Given the description of an element on the screen output the (x, y) to click on. 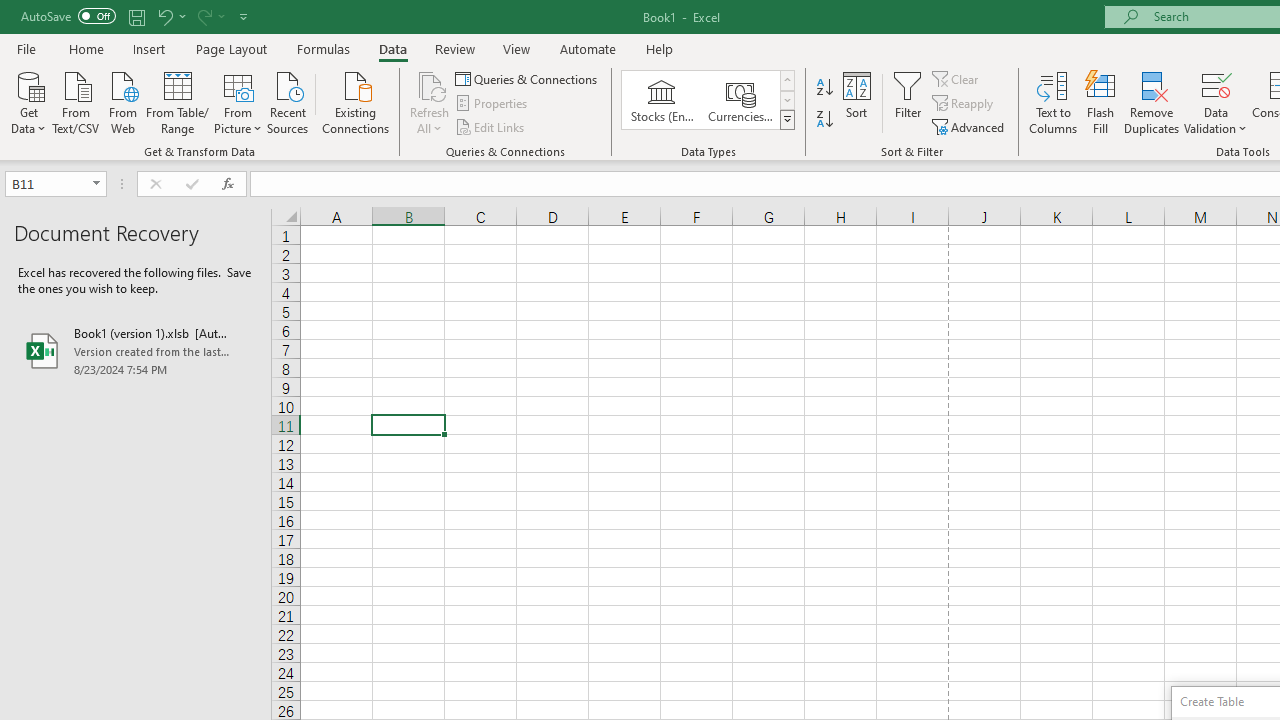
From Web (122, 101)
Currencies (English) (740, 100)
Reapply (964, 103)
AutoSave (68, 16)
Get Data (28, 101)
Class: NetUIImage (787, 119)
Sort... (856, 102)
Row Down (786, 100)
Sort Z to A (824, 119)
Refresh All (429, 84)
